Given the description of an element on the screen output the (x, y) to click on. 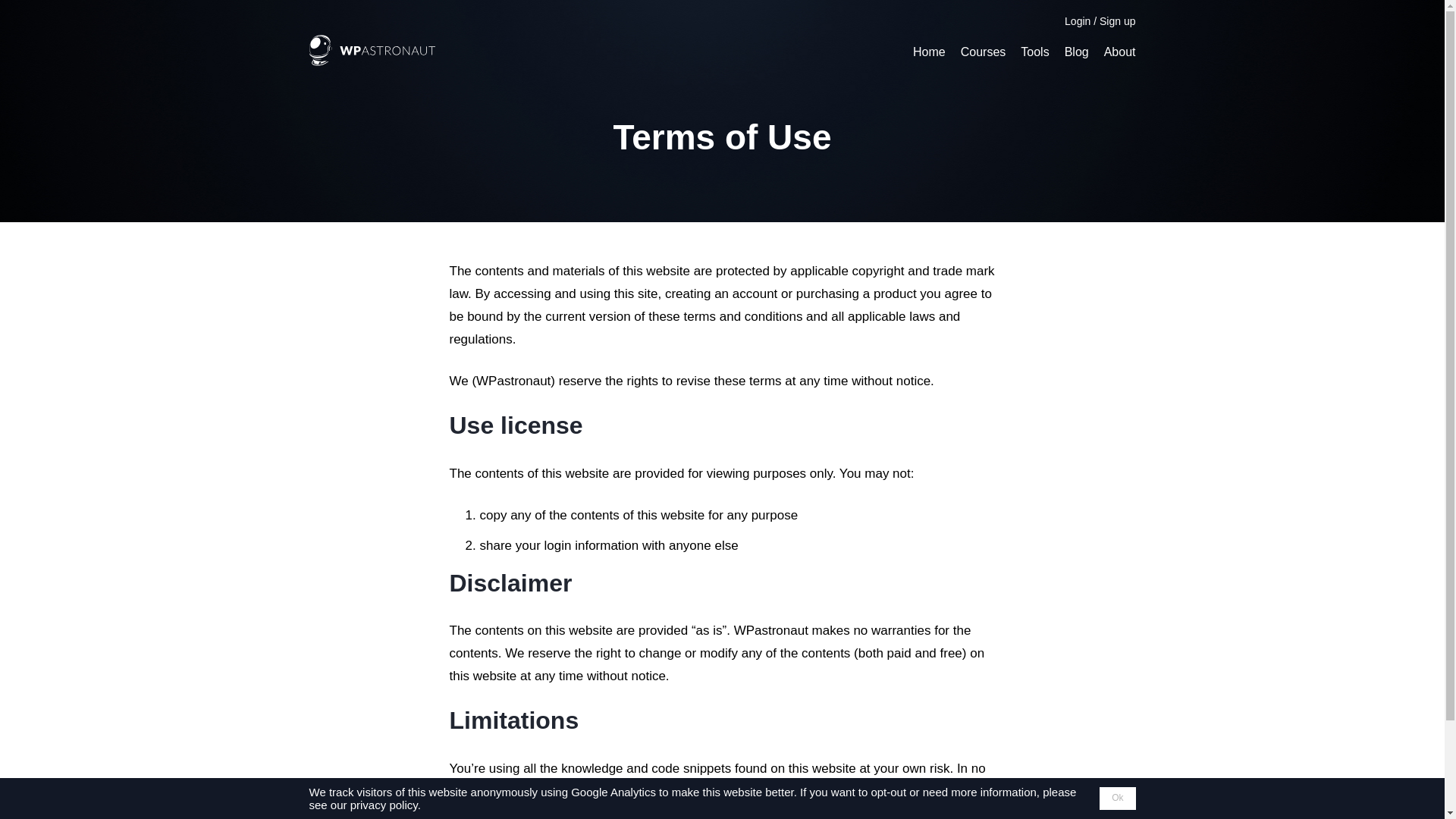
Sign up (1117, 21)
Ok (1117, 798)
Tools (1034, 51)
Login (1077, 21)
Home (928, 51)
privacy policy (383, 804)
Blog (1076, 51)
Courses (983, 51)
About (1119, 51)
WPastronaut (371, 61)
